Given the description of an element on the screen output the (x, y) to click on. 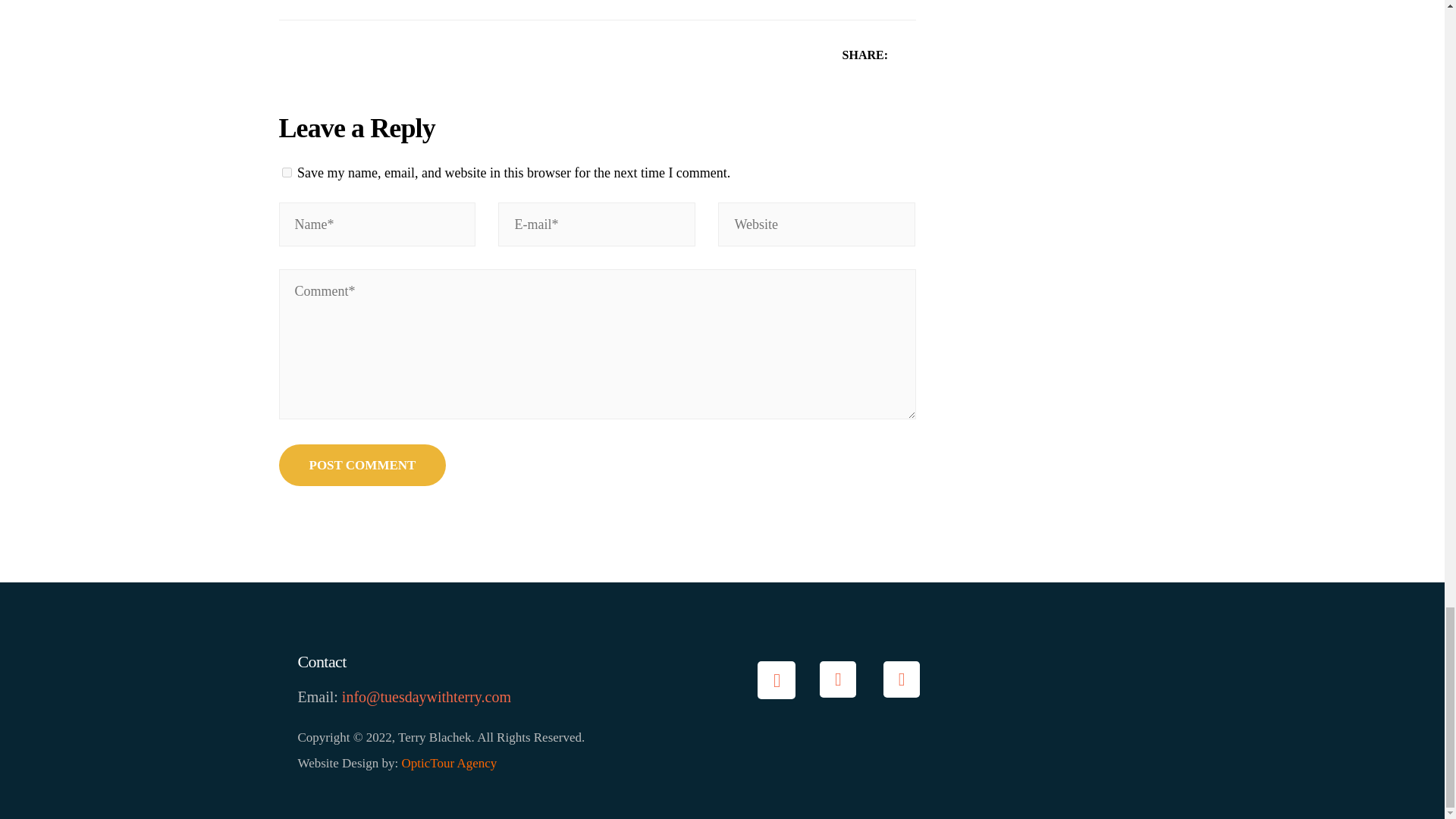
yes (287, 172)
Post Comment (362, 465)
OpticTour Agency  (450, 762)
Post Comment (362, 465)
